Given the description of an element on the screen output the (x, y) to click on. 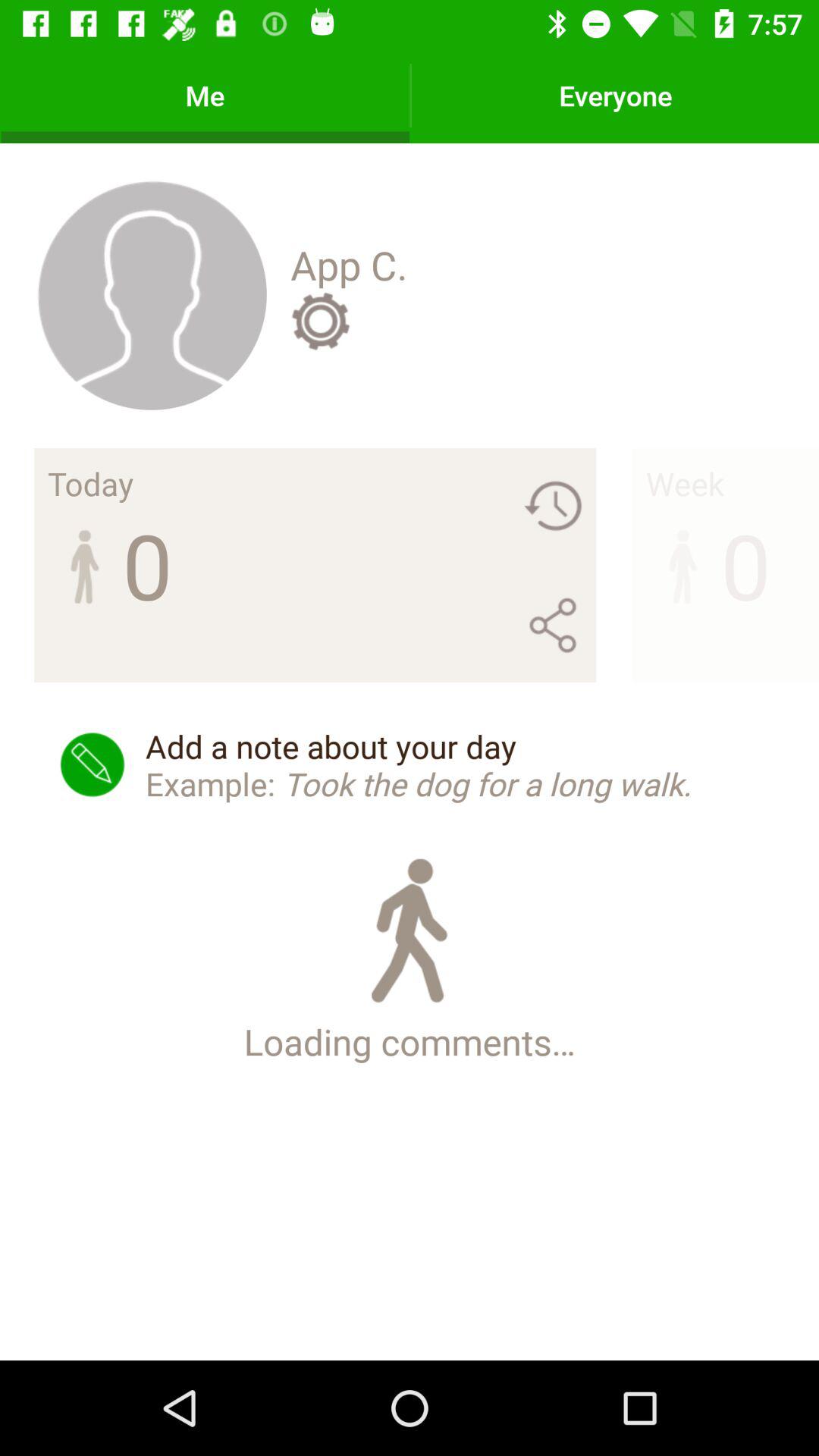
launch icon below the add a note (409, 956)
